Given the description of an element on the screen output the (x, y) to click on. 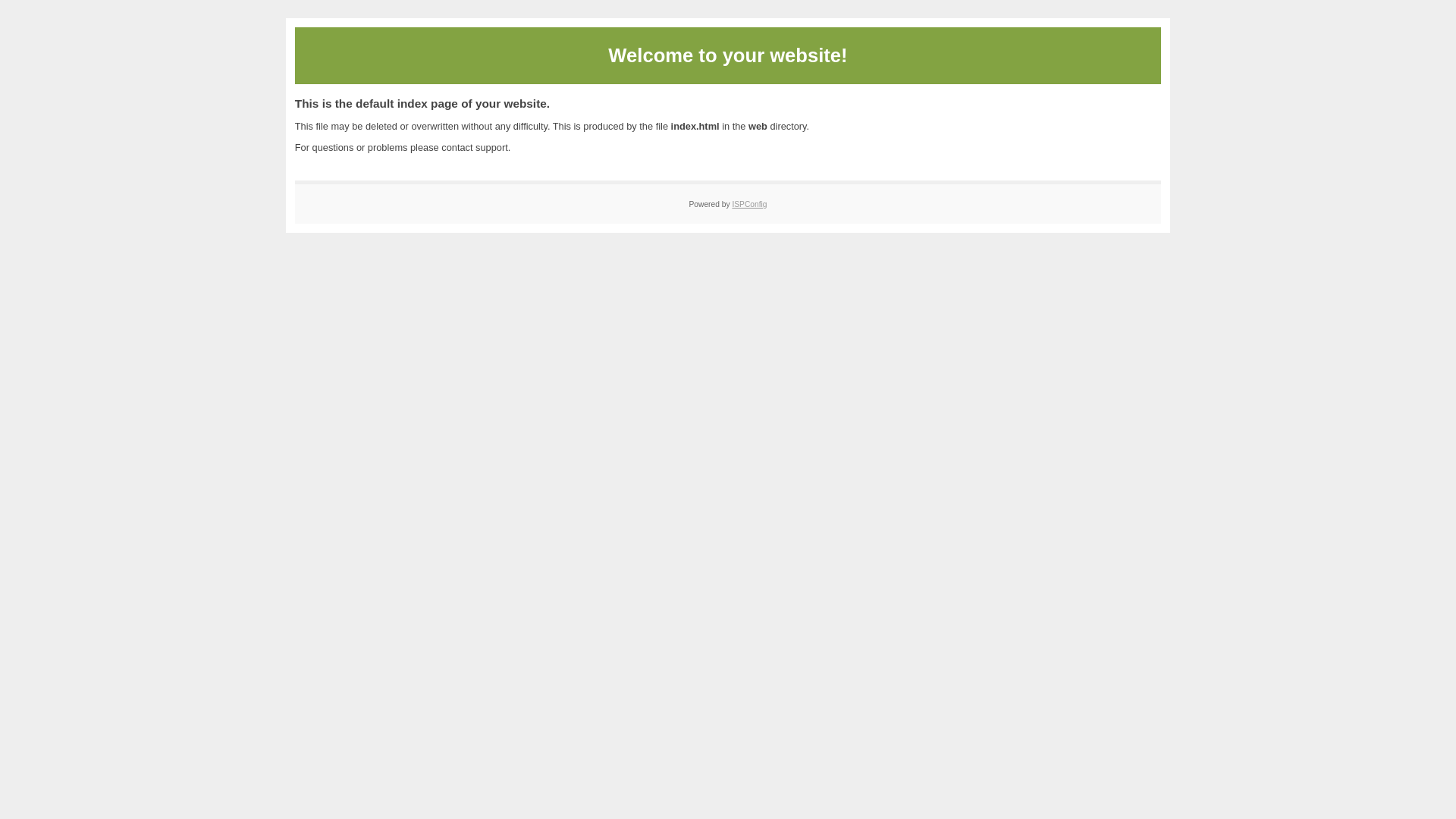
ISPConfig Element type: text (748, 204)
